Given the description of an element on the screen output the (x, y) to click on. 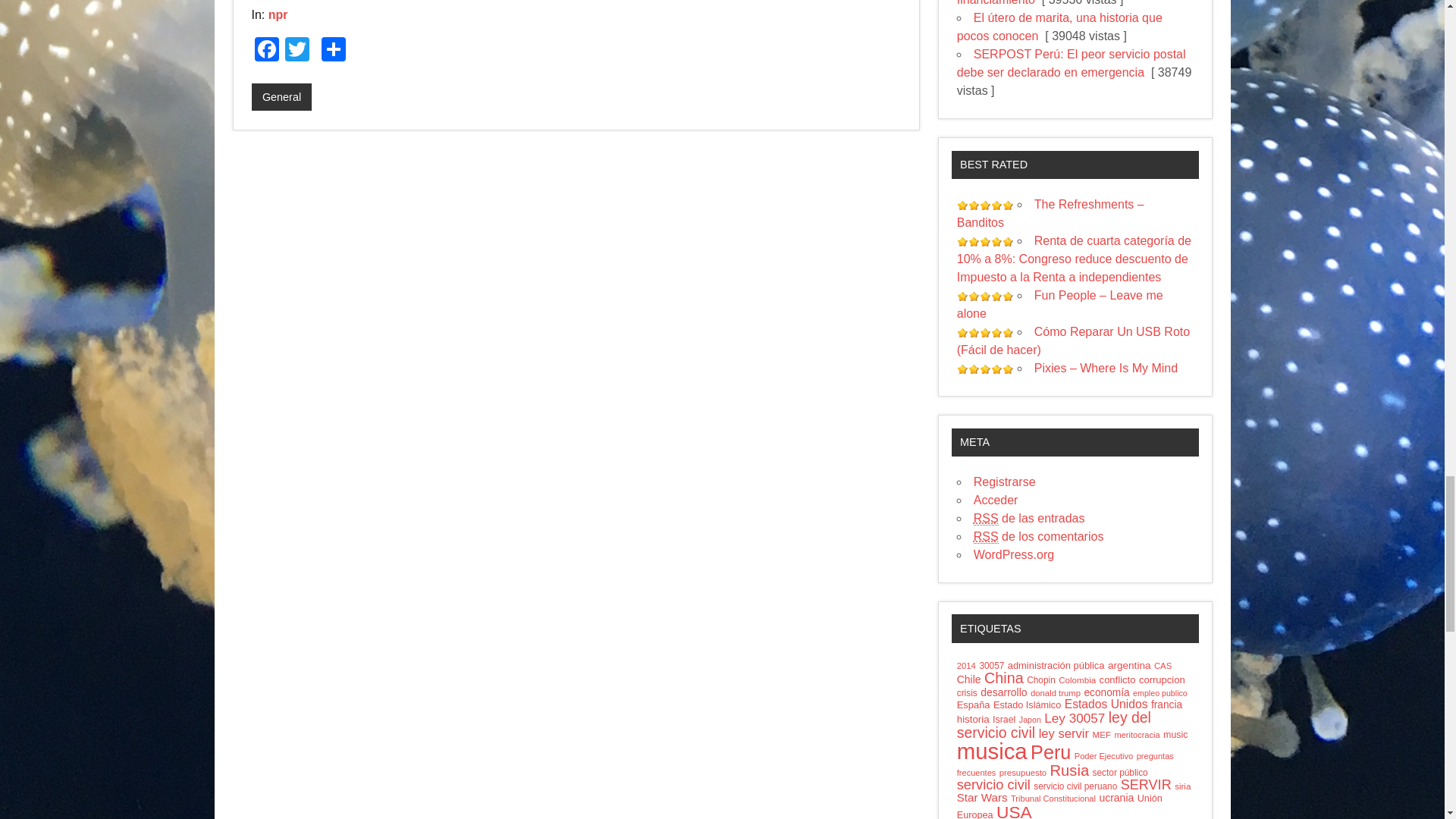
Twitter (297, 50)
General (282, 96)
Facebook (266, 50)
Twitter (297, 50)
Facebook (266, 50)
npr (277, 14)
Compartir (333, 50)
